Given the description of an element on the screen output the (x, y) to click on. 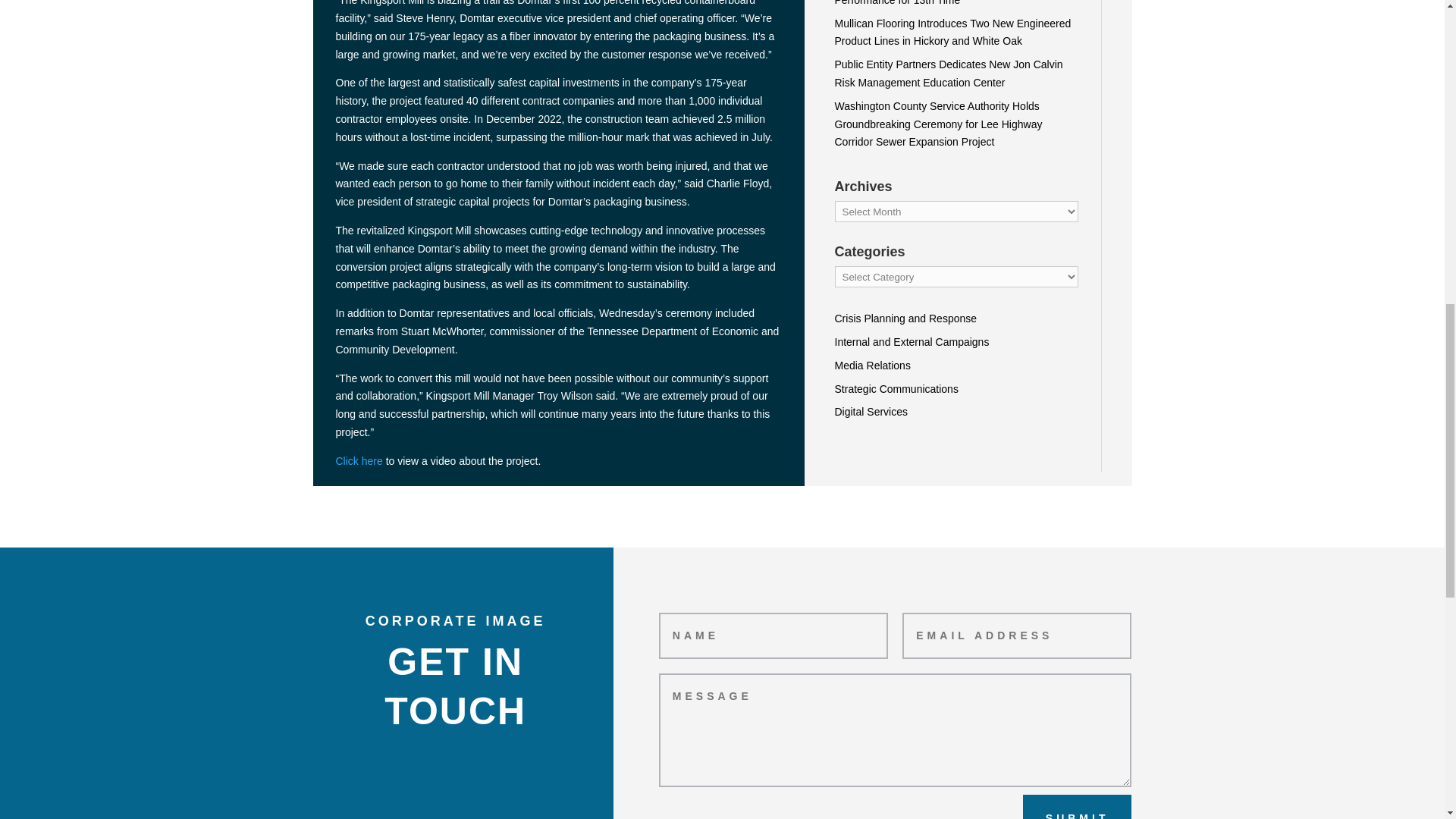
Internal and External Campaigns (911, 341)
Digital Services (870, 411)
Media Relations (872, 365)
SUBMIT (1077, 806)
Crisis Planning and Response (905, 318)
Click here (357, 460)
Strategic Communications (896, 388)
